Given the description of an element on the screen output the (x, y) to click on. 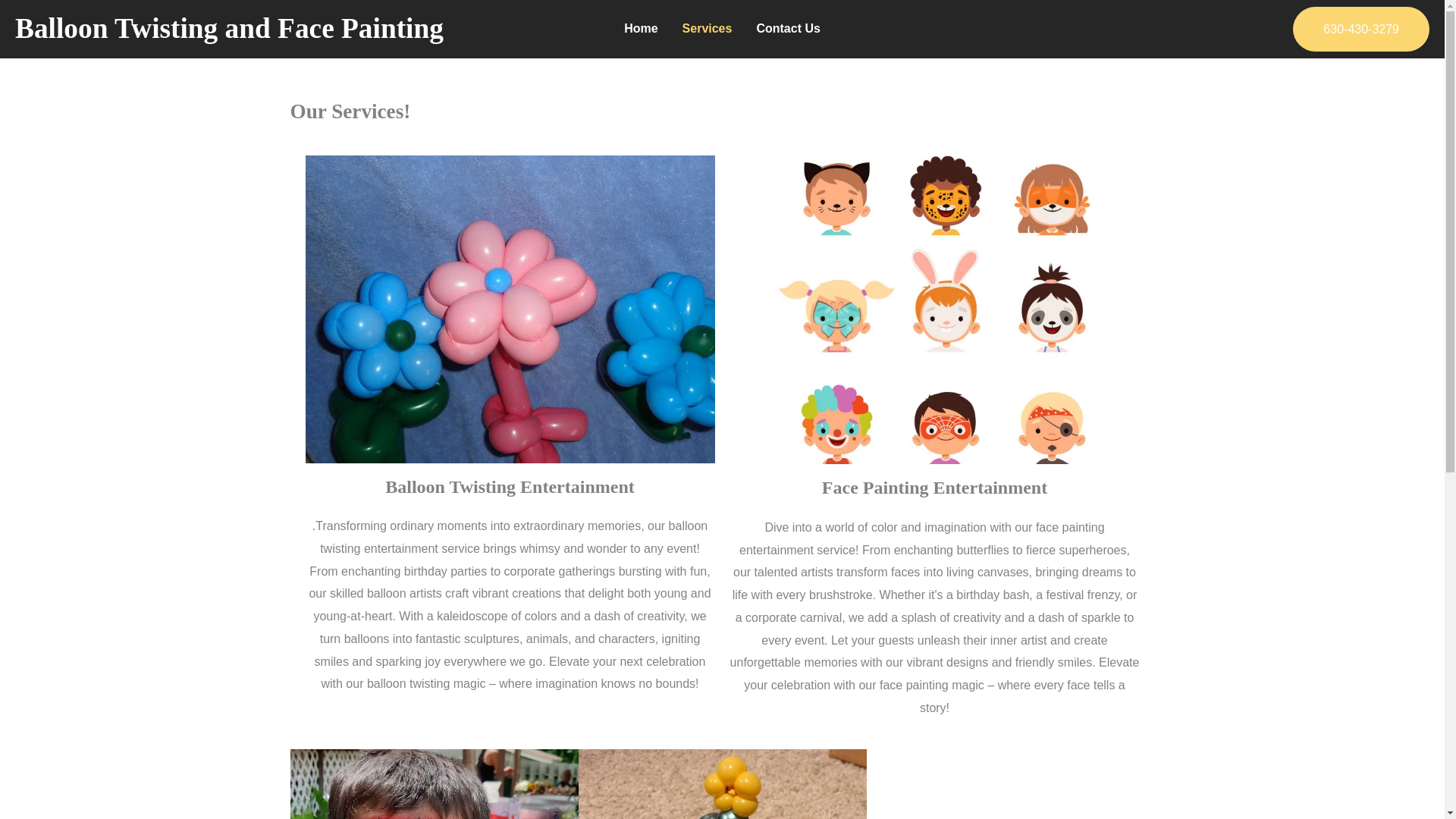
Home (640, 28)
630-430-3279 (1360, 29)
Balloon Twisting and Face Painting (229, 28)
Contact Us (787, 28)
Services (706, 28)
